Given the description of an element on the screen output the (x, y) to click on. 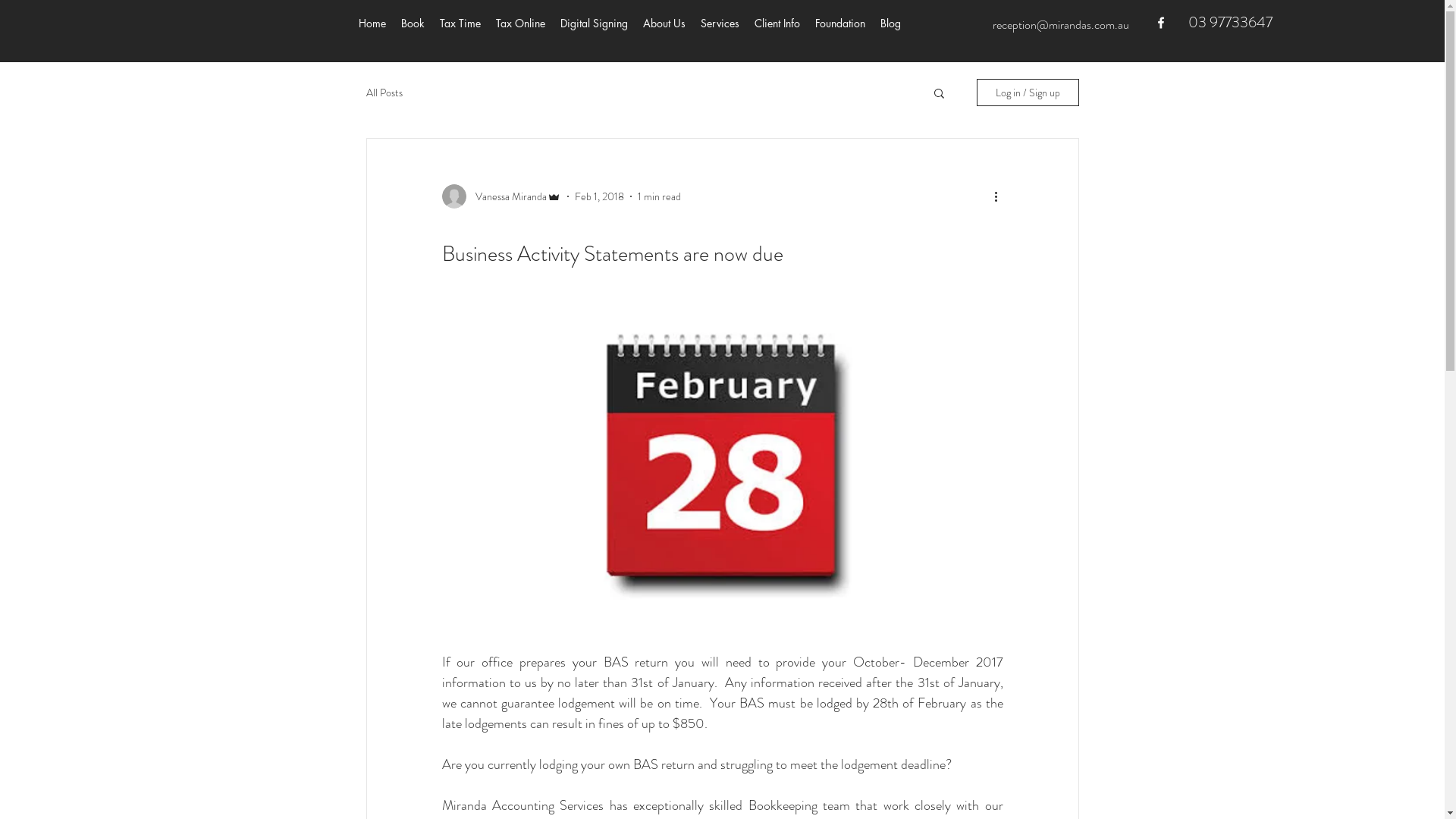
All Posts Element type: text (383, 92)
About Us Element type: text (664, 23)
Book Element type: text (411, 23)
Client Info Element type: text (776, 23)
Blog Element type: text (889, 23)
Log in / Sign up Element type: text (1027, 92)
Tax Online Element type: text (520, 23)
Services Element type: text (719, 23)
reception@mirandas.com.au Element type: text (1059, 24)
Digital Signing Element type: text (593, 23)
Home Element type: text (371, 23)
Tax Time Element type: text (460, 23)
Foundation Element type: text (839, 23)
